Given the description of an element on the screen output the (x, y) to click on. 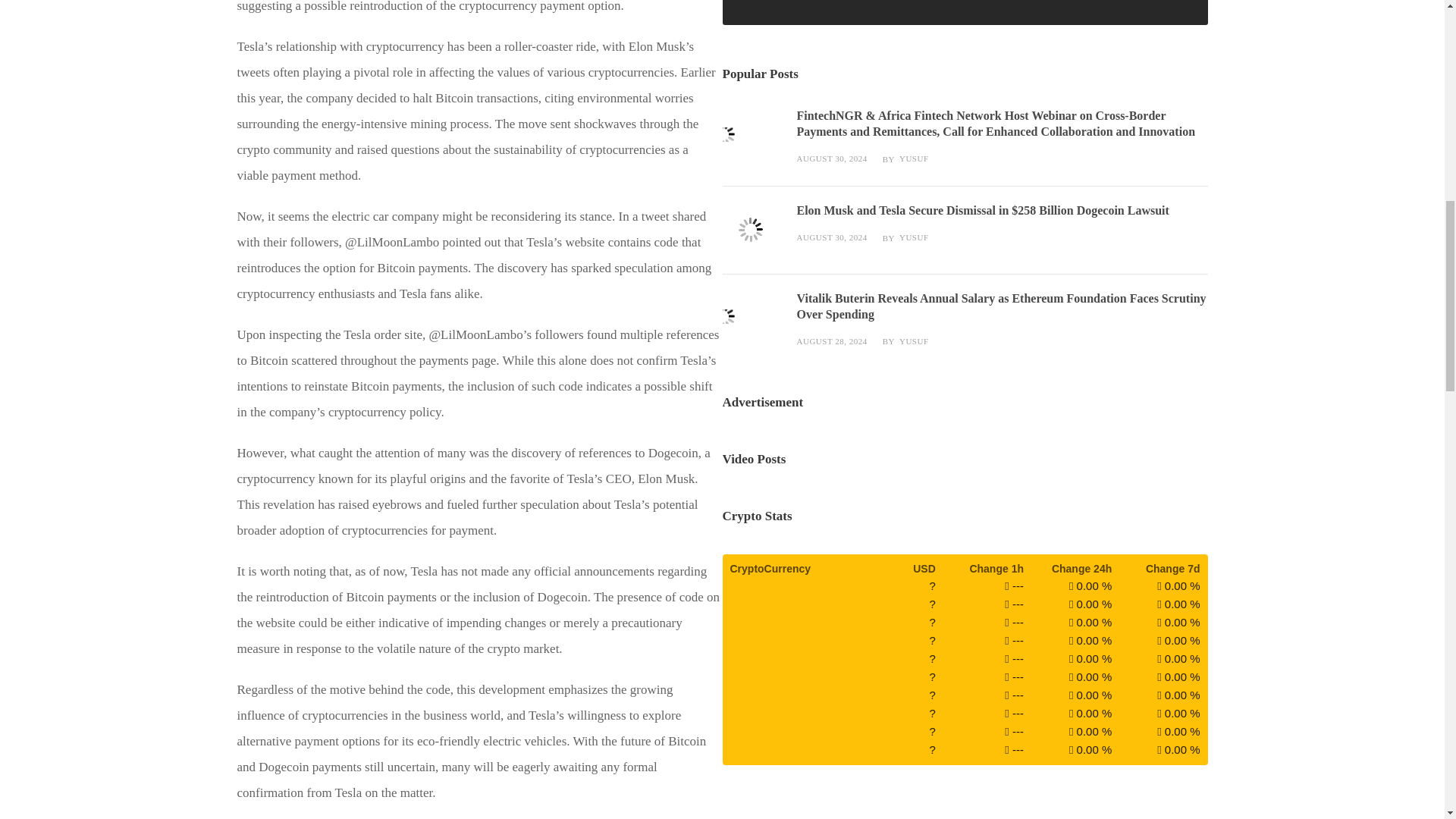
Posts by Yusuf (913, 157)
GVbZGH4WYAAovZv (750, 144)
Posts by Yusuf (913, 340)
Posts by Yusuf (913, 236)
pexels-photo-730552 (750, 326)
